Given the description of an element on the screen output the (x, y) to click on. 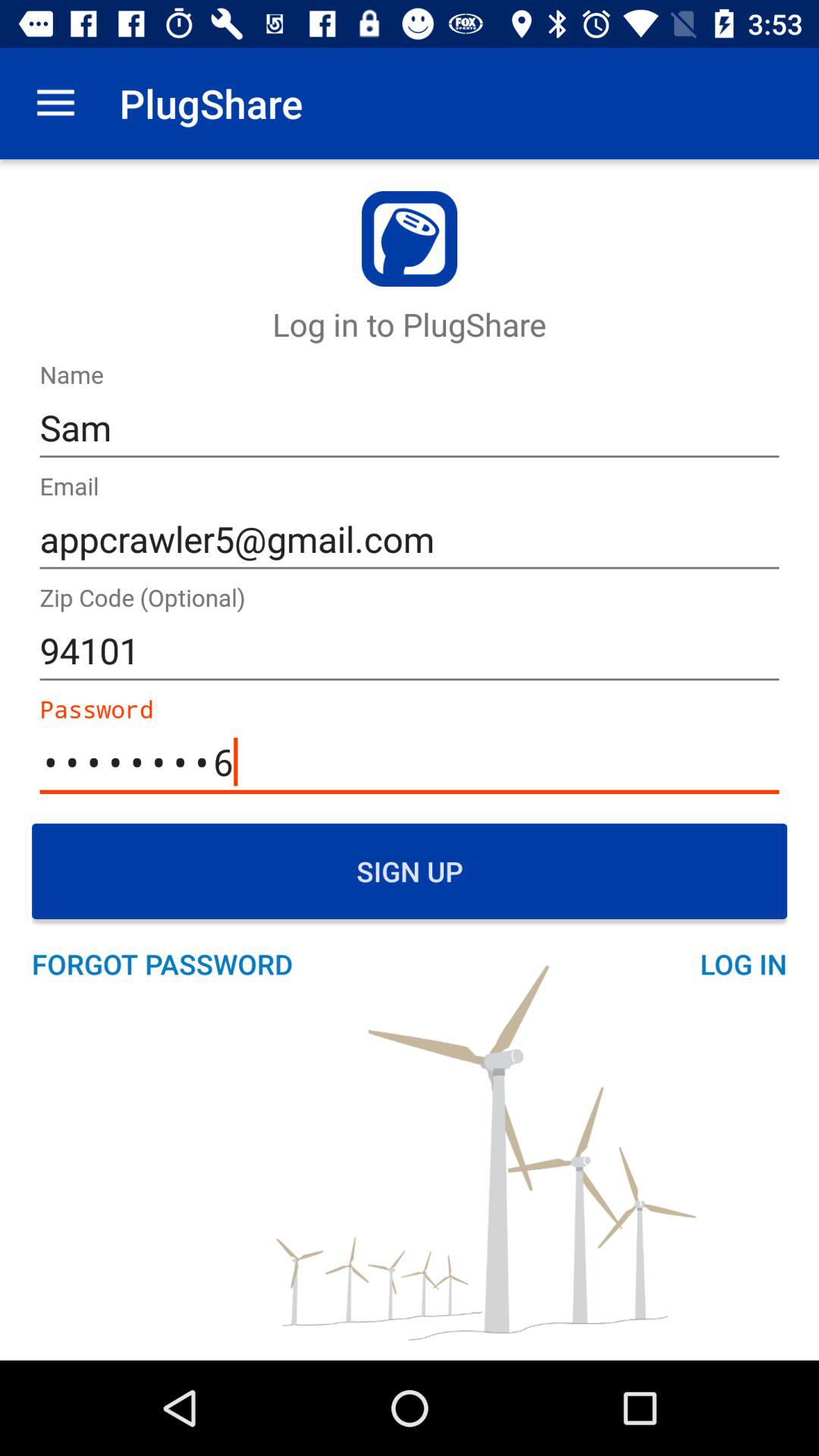
turn on the item above the crowd3116 (409, 651)
